Given the description of an element on the screen output the (x, y) to click on. 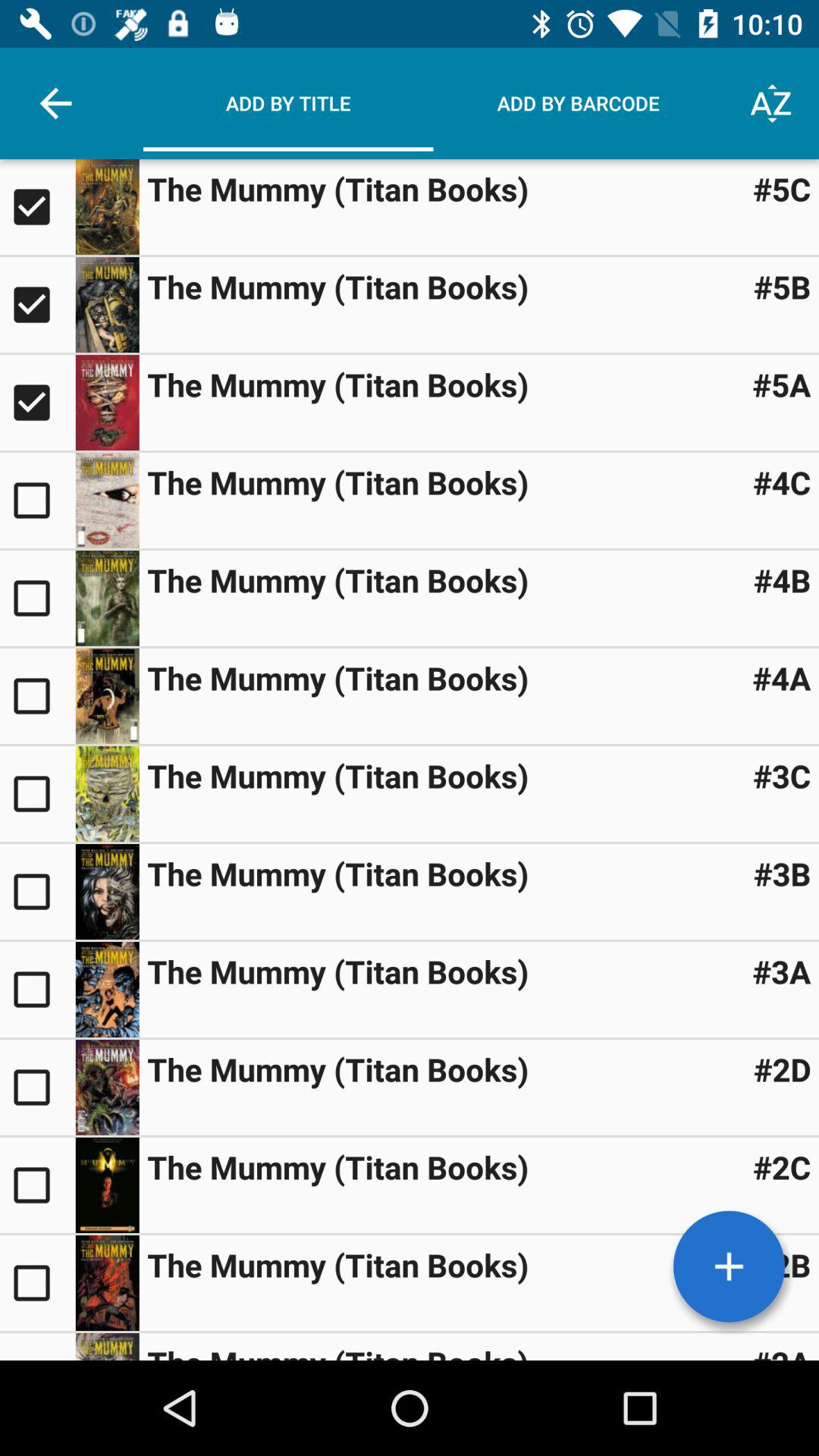
scroll to the #5b icon (782, 286)
